Given the description of an element on the screen output the (x, y) to click on. 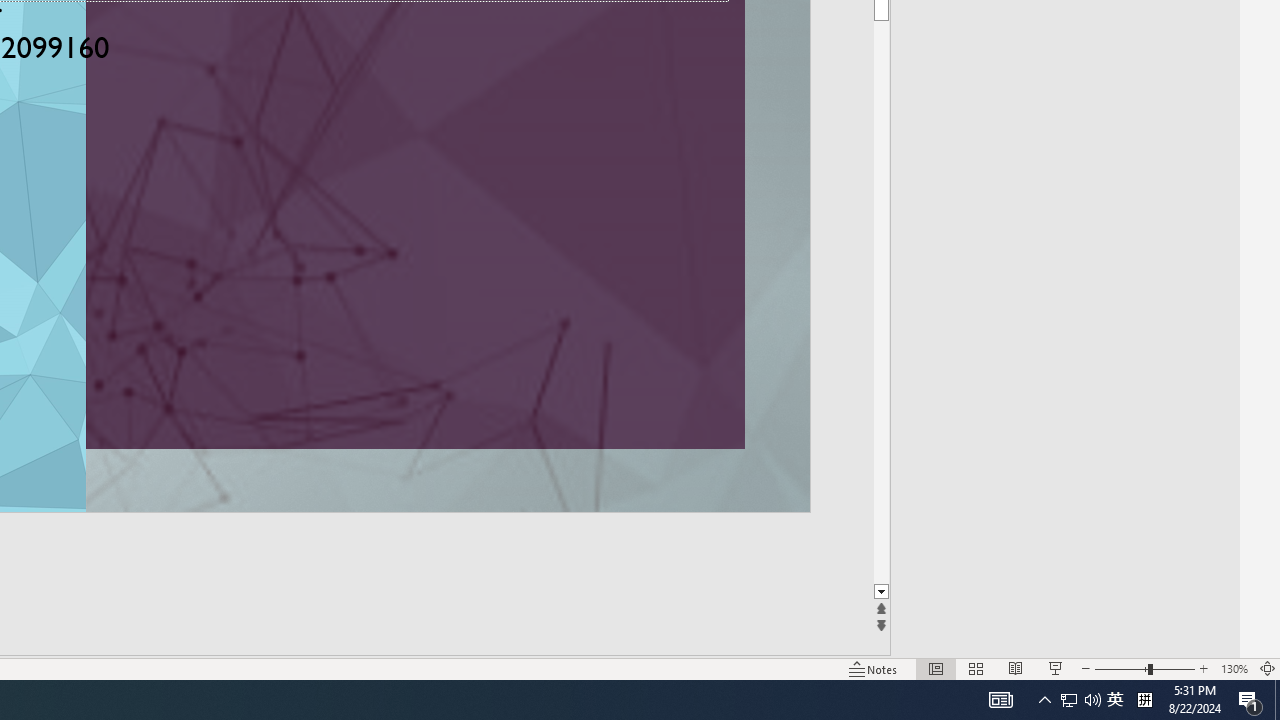
Zoom 130% (1234, 668)
